Given the description of an element on the screen output the (x, y) to click on. 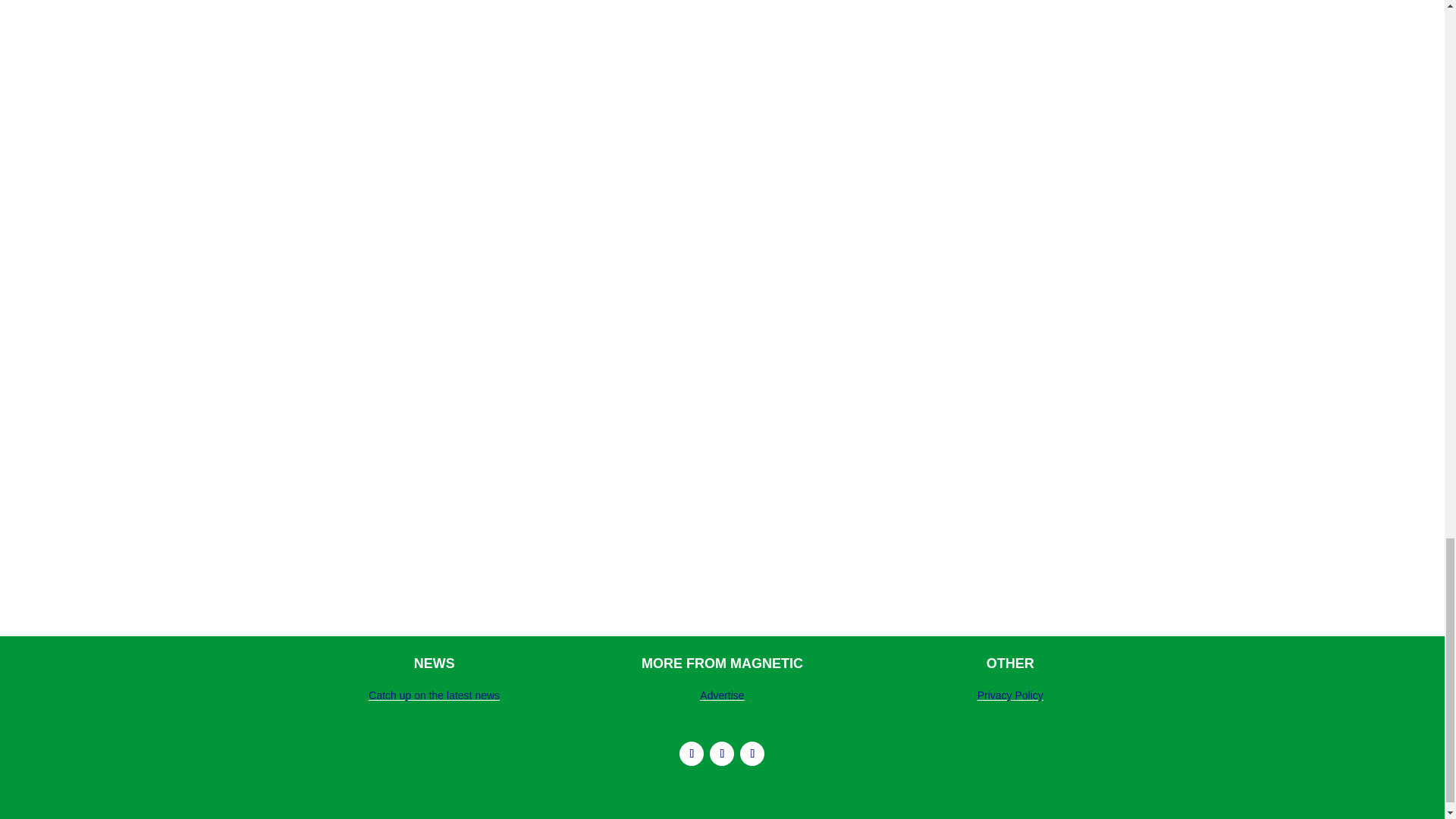
Follow on Instagram (691, 753)
Catch up on the latest news (433, 695)
Follow on LinkedIn (721, 753)
Advertise (722, 695)
Follow on Facebook (751, 753)
NEWS (433, 663)
Privacy Policy (1009, 695)
